Given the description of an element on the screen output the (x, y) to click on. 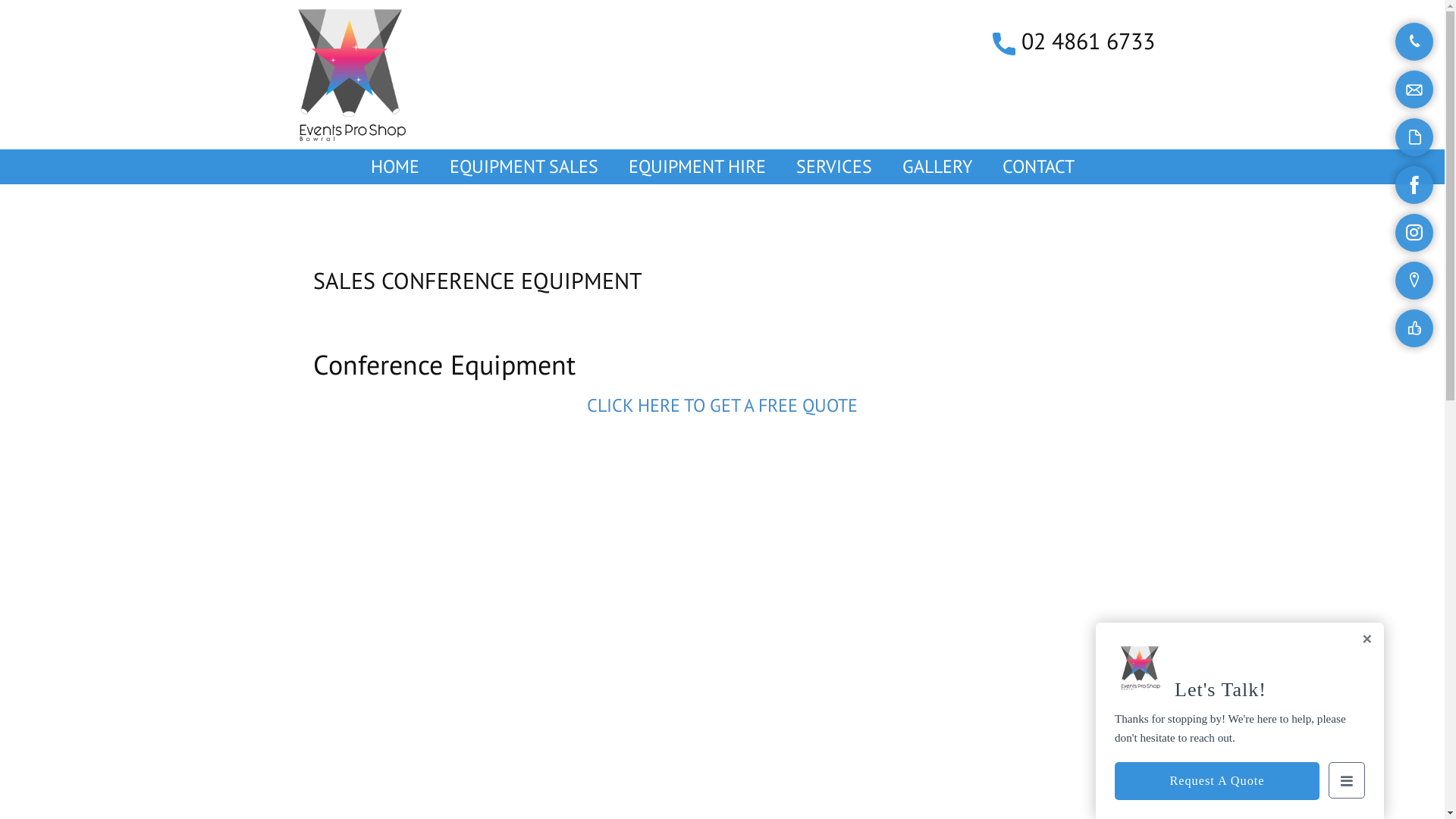
EQUIPMENT SALES Element type: text (522, 166)
Request A Quote Element type: text (1216, 781)
EQUIPMENT HIRE Element type: text (696, 166)
 02 4861 6733 Element type: text (1072, 42)
GALLERY Element type: text (937, 166)
CLICK HERE TO GET A FREE QUOTE Element type: text (721, 405)
SERVICES Element type: text (834, 166)
CONTACT Element type: text (1038, 166)
HOME Element type: text (393, 166)
home Element type: hover (351, 74)
